Given the description of an element on the screen output the (x, y) to click on. 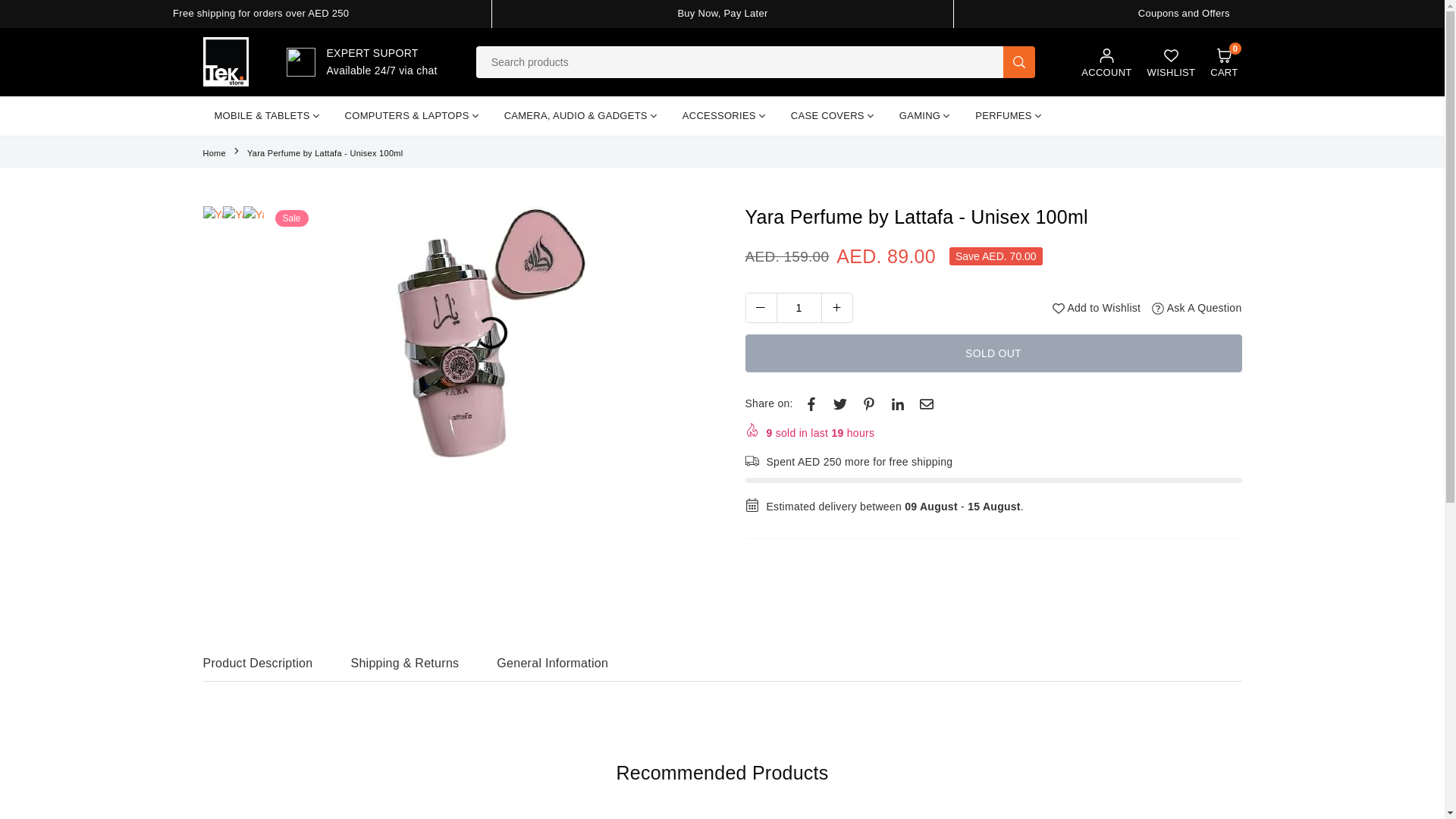
TEKSTORE.AE (225, 61)
Share by Email (926, 402)
Pin on Pinterest (868, 402)
Share on Linkedin (897, 402)
Tweet on Twitter (839, 402)
SUBMIT (1019, 61)
Free shipping for orders over AED 250 (261, 12)
CART (1223, 62)
Buy Now, Pay Later (722, 12)
1 (799, 307)
Quantity (1223, 62)
ACCOUNT (797, 307)
Back to the home page (1106, 62)
WISHLIST (215, 153)
